Given the description of an element on the screen output the (x, y) to click on. 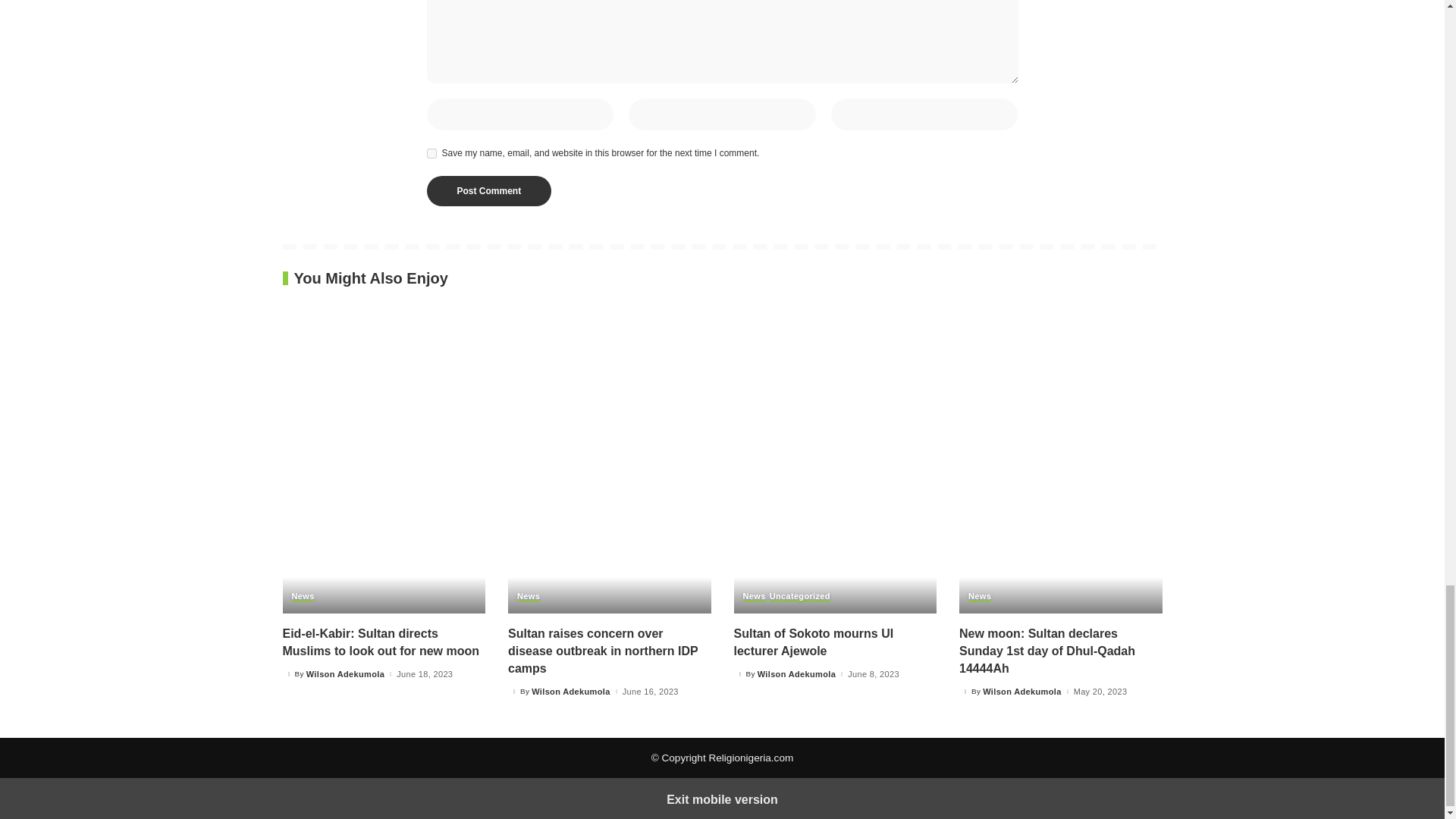
News (302, 596)
Wilson Adekumola (570, 691)
yes (430, 153)
Uncategorized (799, 596)
Wilson Adekumola (344, 674)
Post Comment (488, 191)
News (753, 596)
News (528, 596)
